Given the description of an element on the screen output the (x, y) to click on. 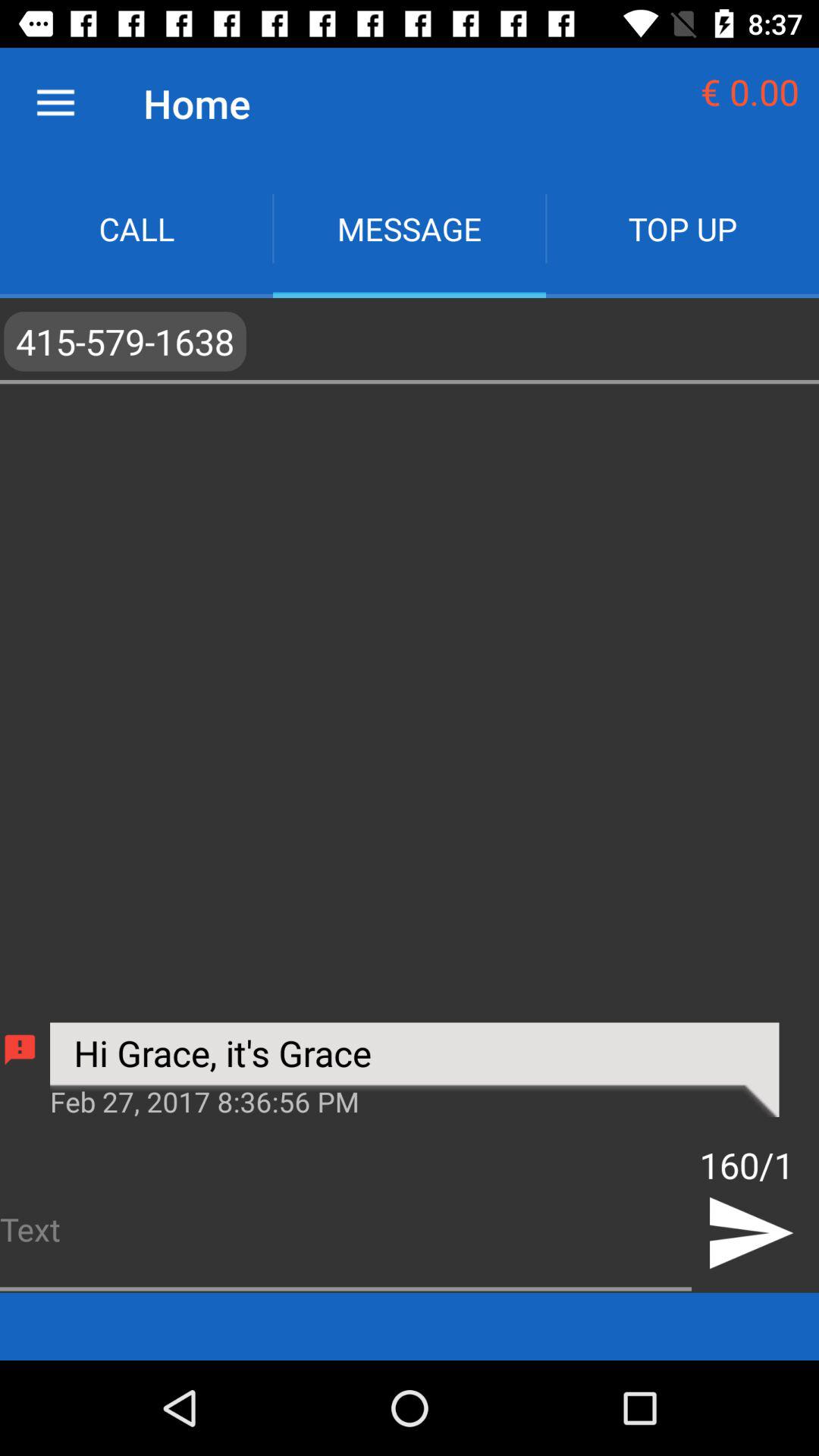
jump until the top up app (682, 228)
